Given the description of an element on the screen output the (x, y) to click on. 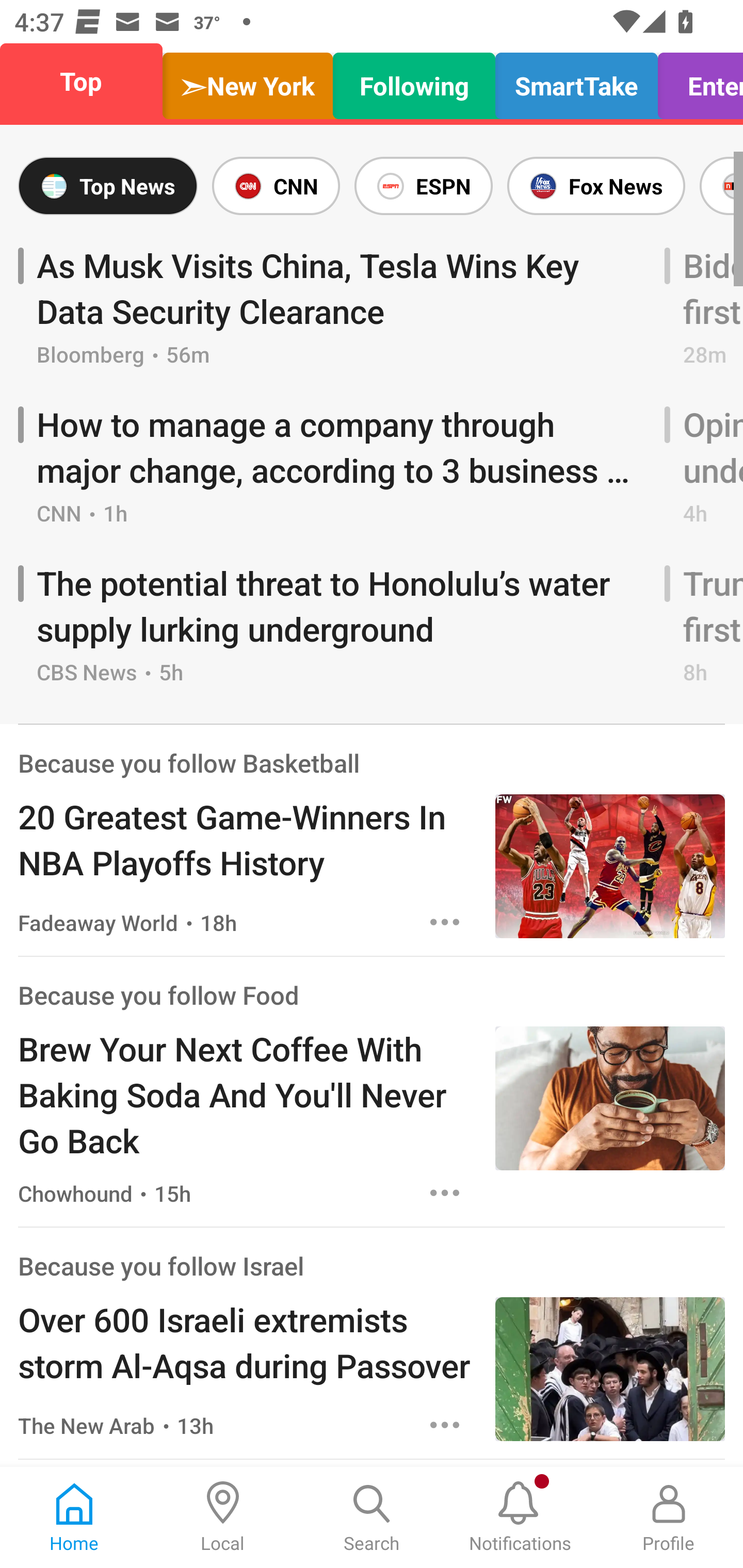
Top (86, 81)
➣New York (247, 81)
Following (413, 81)
SmartTake (576, 81)
Entertain (695, 81)
CNN (275, 185)
ESPN (423, 185)
Fox News (596, 185)
Because you follow Basketball (188, 762)
Options (444, 921)
Because you follow Food (158, 994)
Options (444, 1193)
Because you follow Israel (160, 1265)
Options (444, 1425)
Local (222, 1517)
Search (371, 1517)
Notifications, New notification Notifications (519, 1517)
Profile (668, 1517)
